Given the description of an element on the screen output the (x, y) to click on. 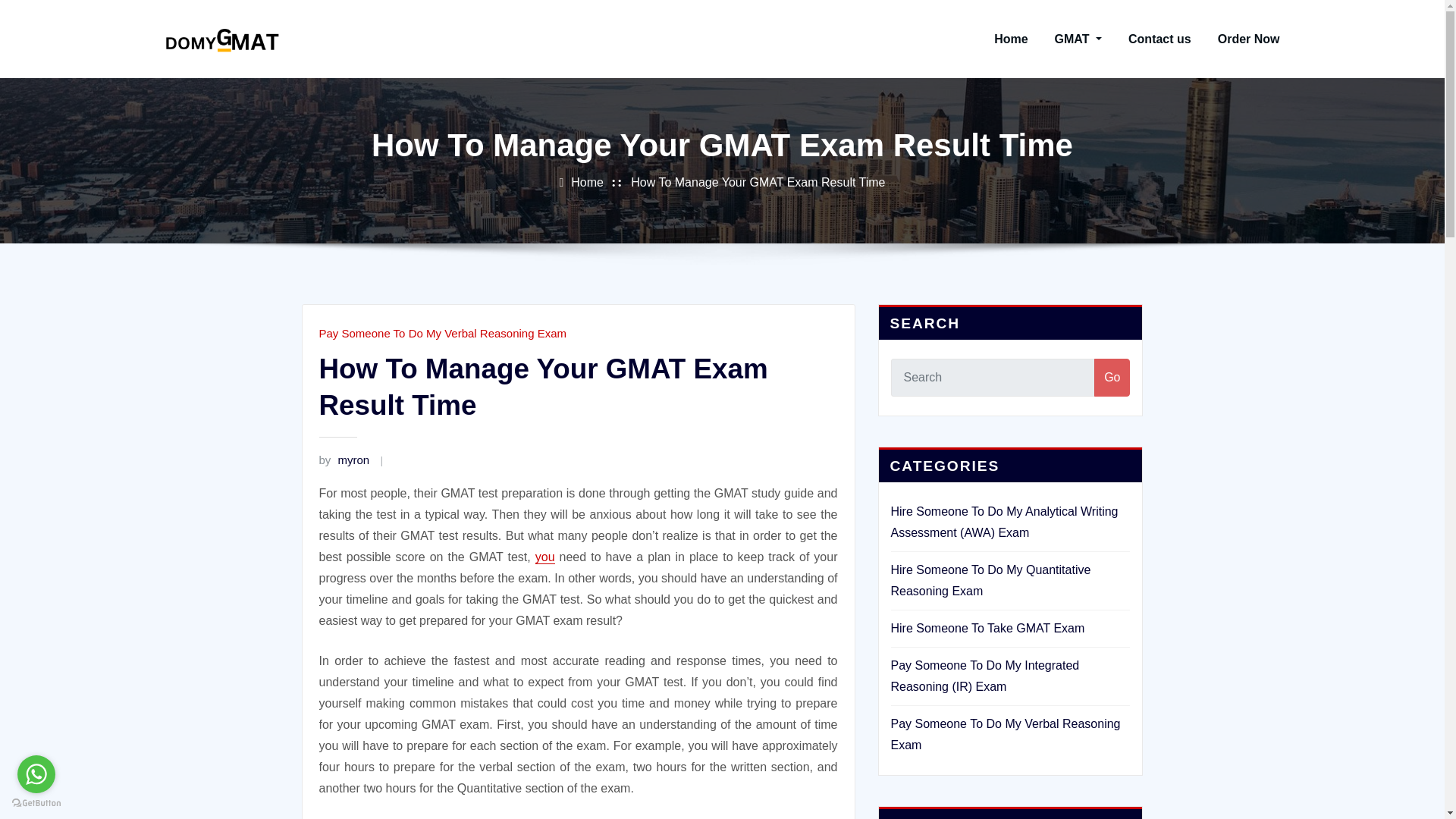
Home (1010, 38)
Hire Someone To Take GMAT Exam (986, 627)
by myron (343, 459)
Pay Someone To Do My Verbal Reasoning Exam (442, 332)
GMAT (1078, 38)
Hire Someone To Do My Quantitative Reasoning Exam (989, 580)
Pay Someone To Do My Verbal Reasoning Exam (1004, 734)
Go (1111, 377)
you (544, 556)
Home (587, 182)
Order Now (1248, 38)
Contact us (1159, 38)
How To Manage Your GMAT Exam Result Time (757, 182)
